Given the description of an element on the screen output the (x, y) to click on. 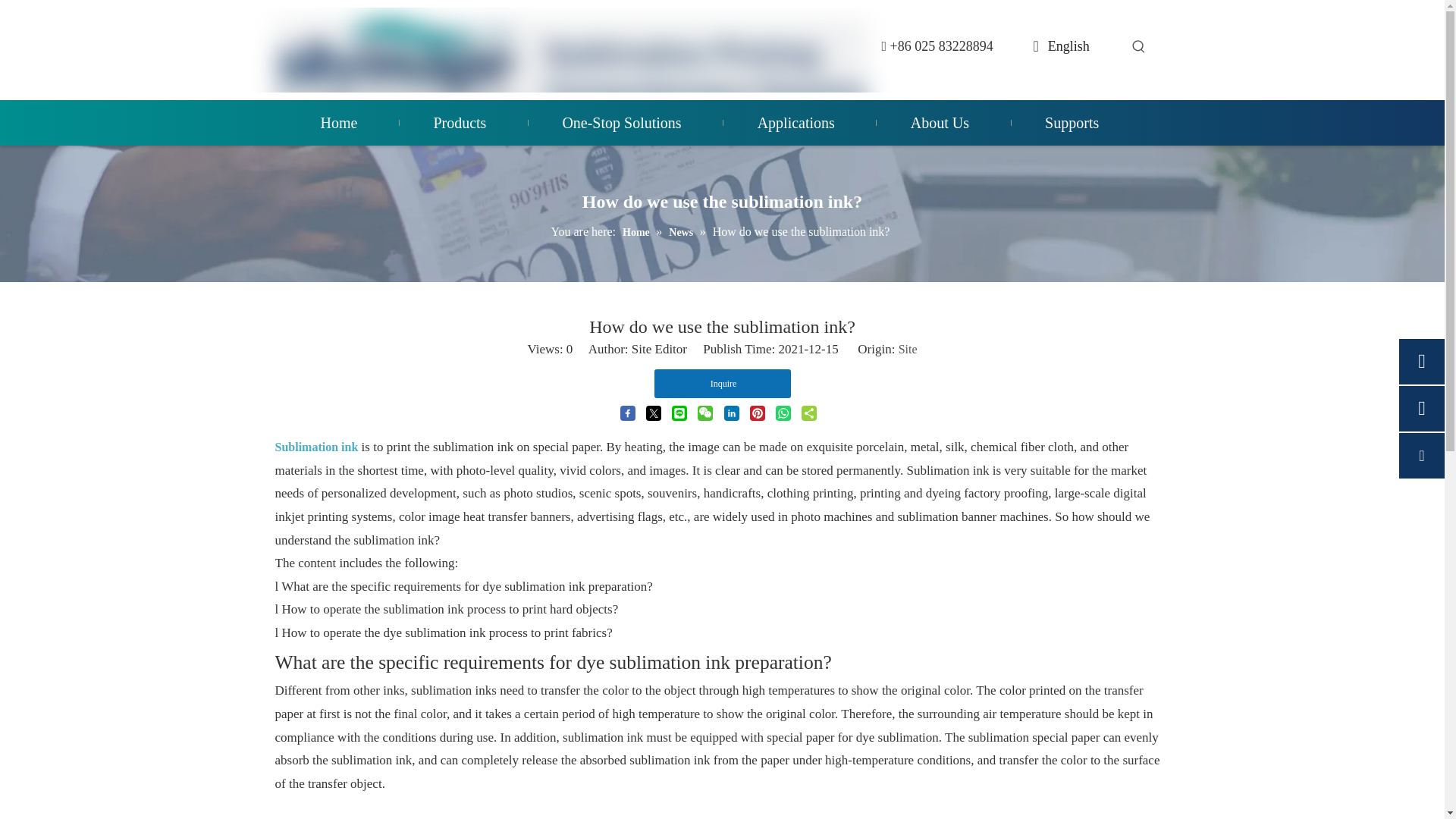
About Us (939, 122)
One-Stop Solutions (620, 122)
Sublimation ink (316, 446)
Site (907, 349)
Home (637, 232)
Supports (1071, 122)
Inquire (721, 383)
Applications (796, 122)
Home (338, 122)
Products (459, 122)
